Given the description of an element on the screen output the (x, y) to click on. 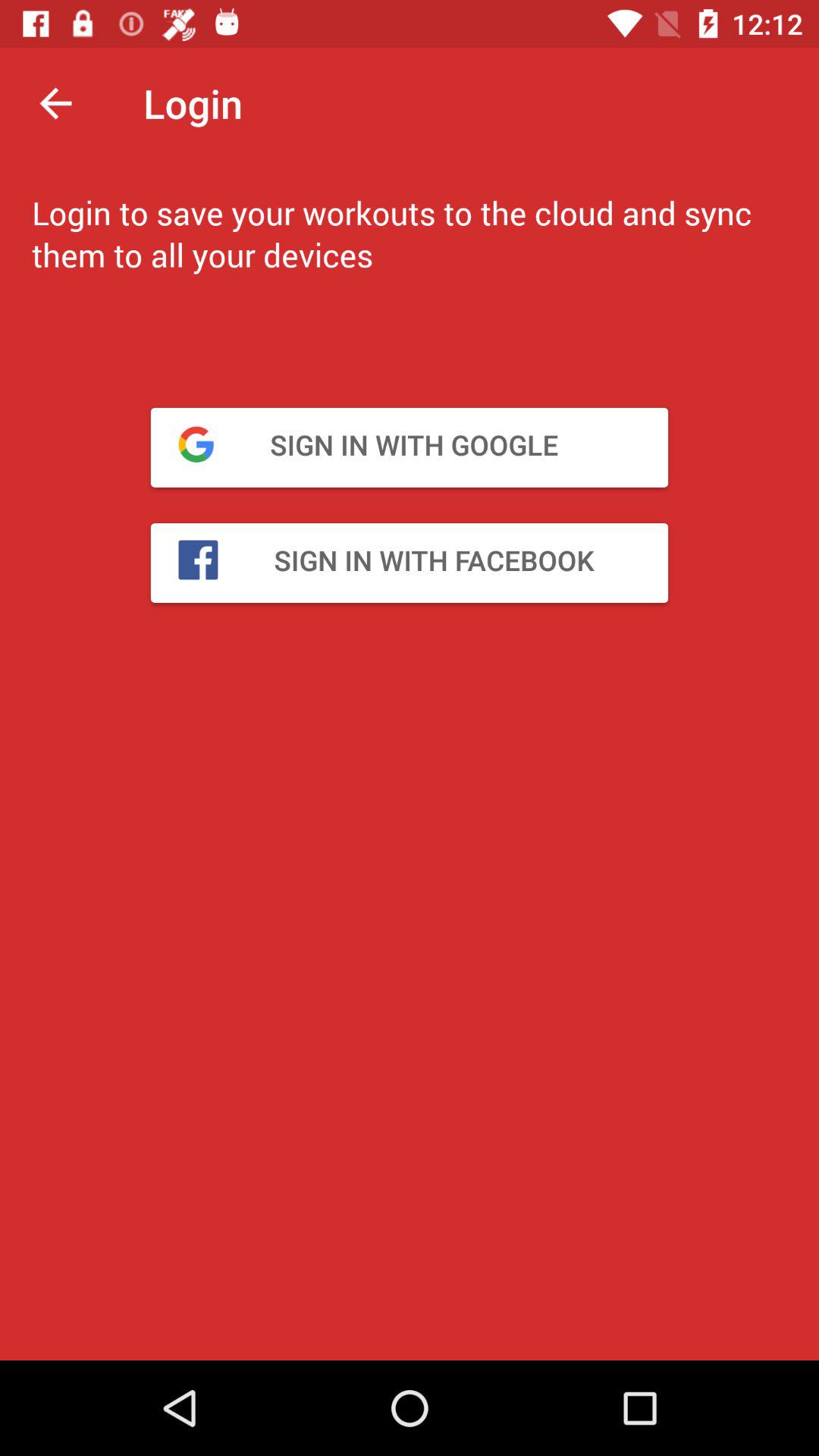
turn on item next to login icon (55, 103)
